Given the description of an element on the screen output the (x, y) to click on. 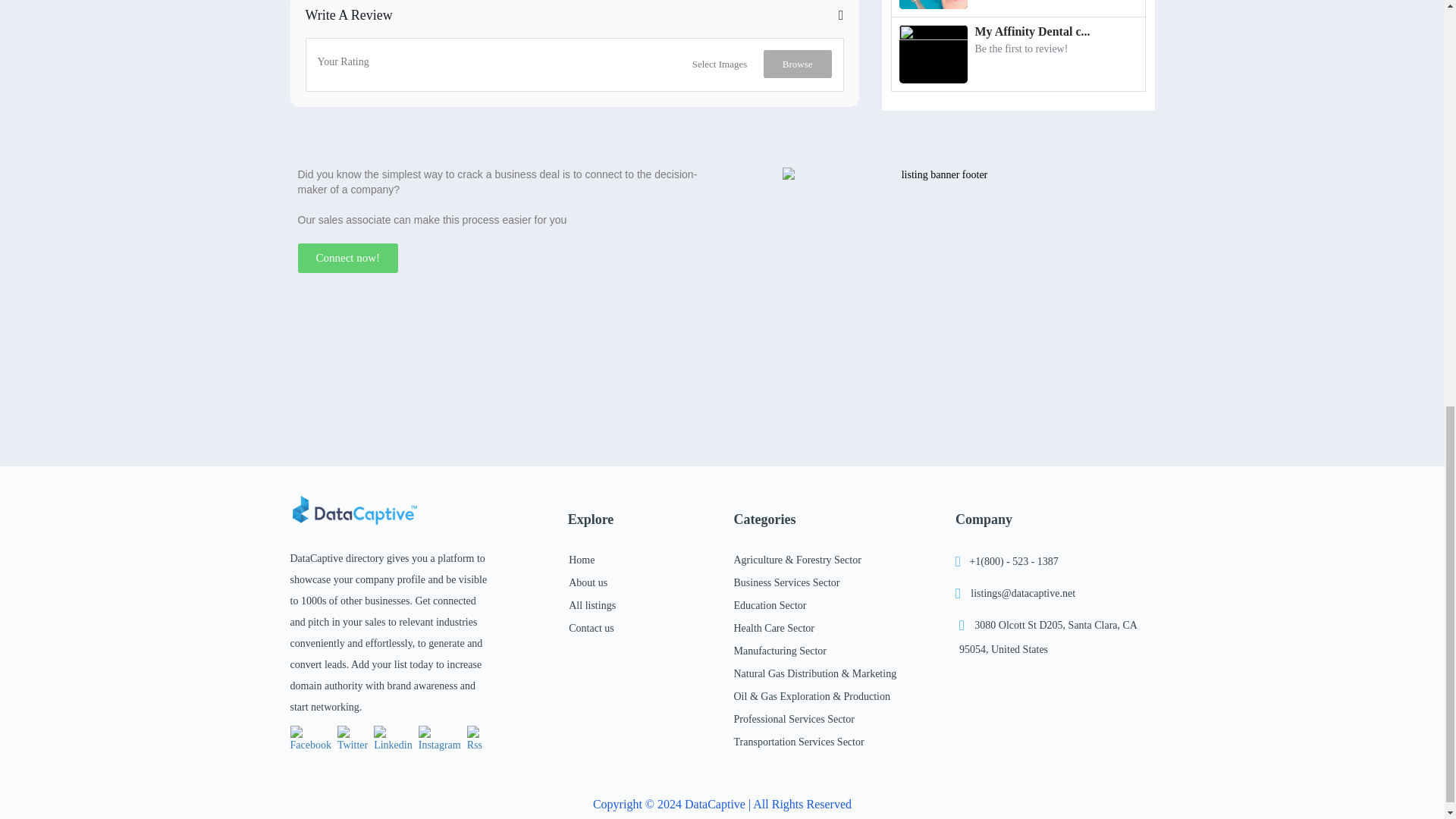
Browse (796, 63)
